Given the description of an element on the screen output the (x, y) to click on. 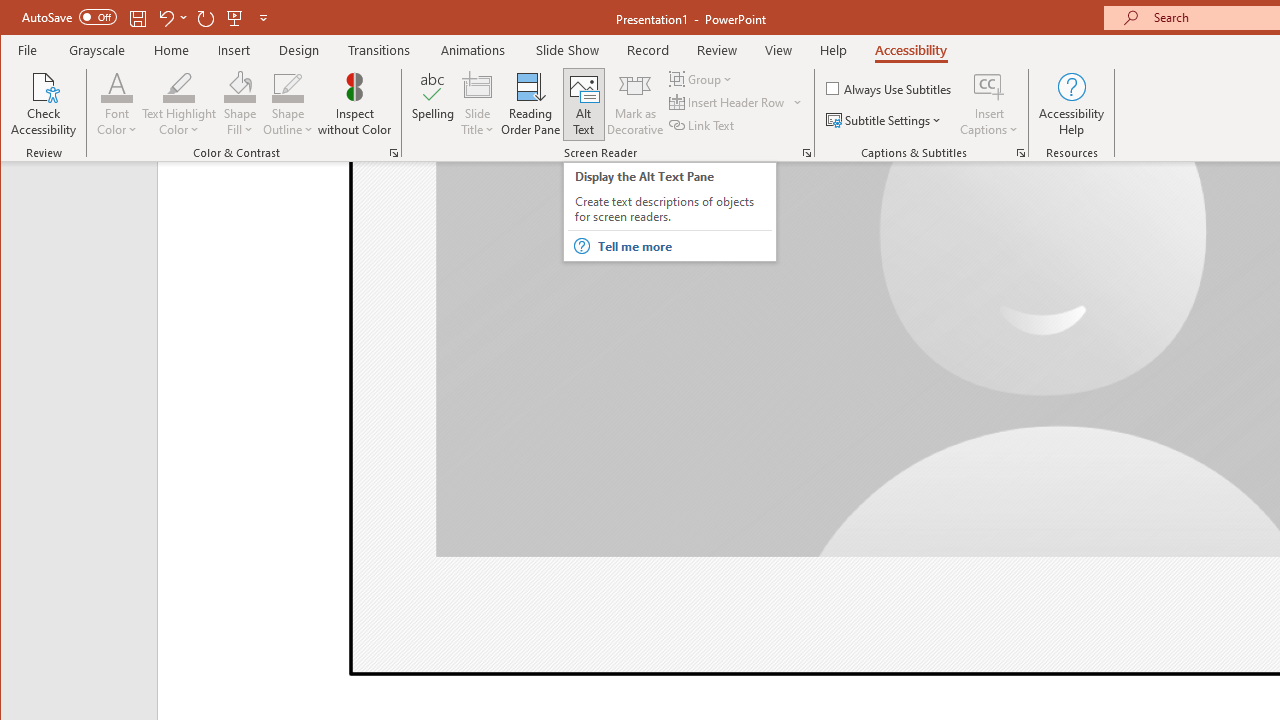
Link Text (703, 124)
